Given the description of an element on the screen output the (x, y) to click on. 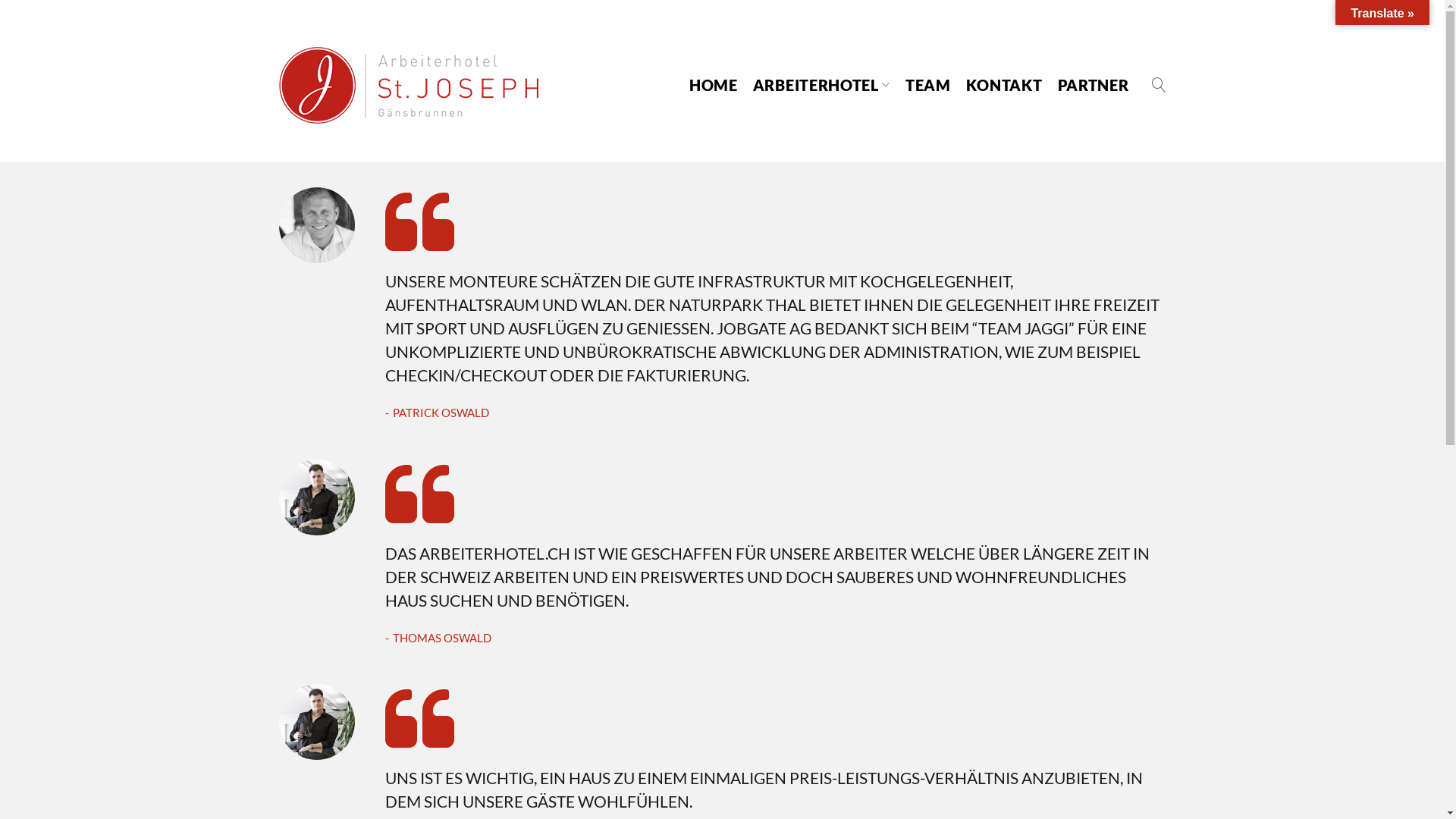
TEAM Element type: text (927, 85)
Skip to content Element type: text (0, 0)
ARBEITERHOTEL Element type: text (821, 85)
PARTNER Element type: text (1093, 85)
KONTAKT Element type: text (1004, 85)
HOME Element type: text (713, 85)
